Given the description of an element on the screen output the (x, y) to click on. 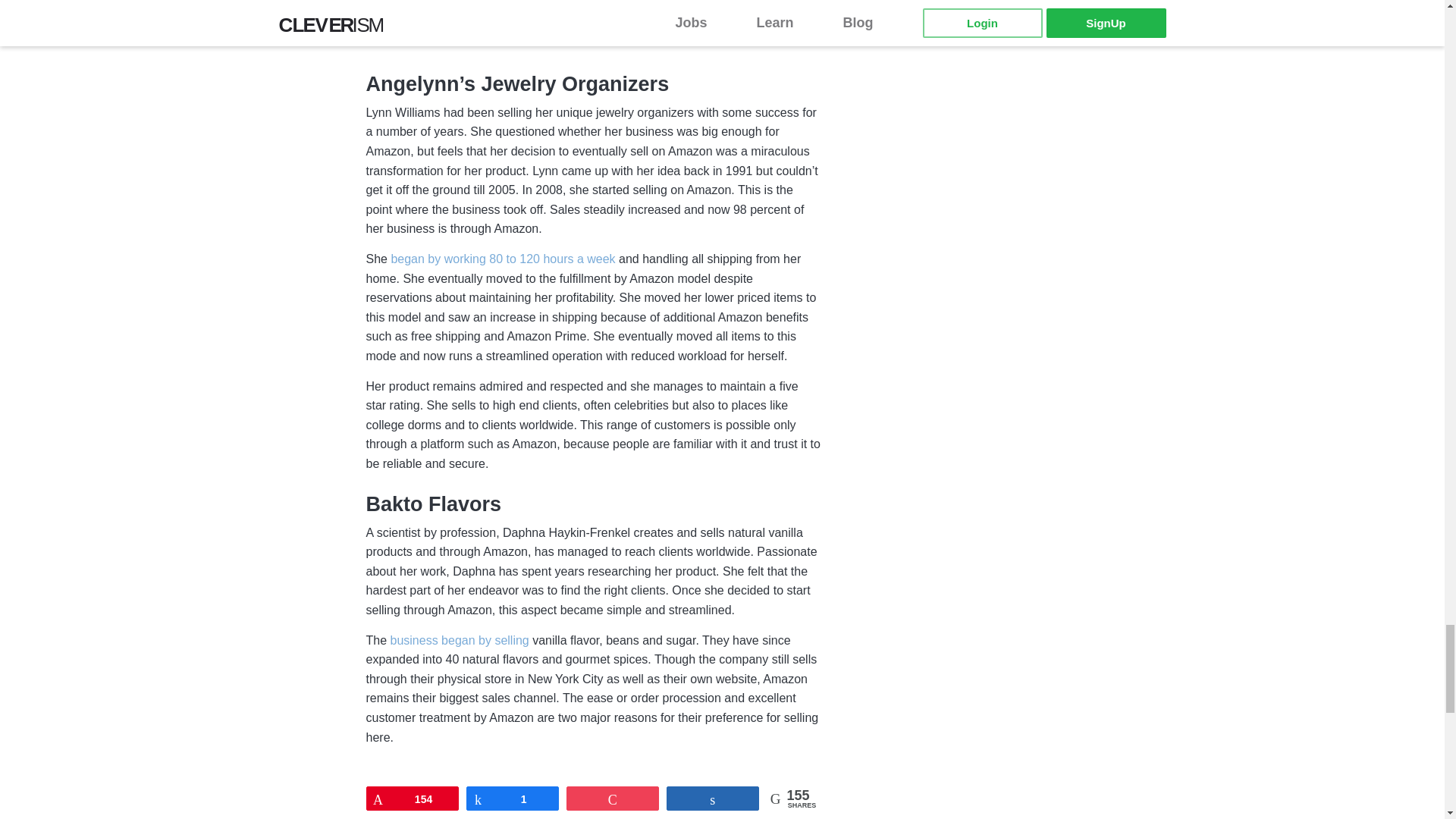
began by working 80 to 120 hours a week (502, 259)
business began by selling (459, 641)
154 (412, 798)
1 (512, 798)
